Given the description of an element on the screen output the (x, y) to click on. 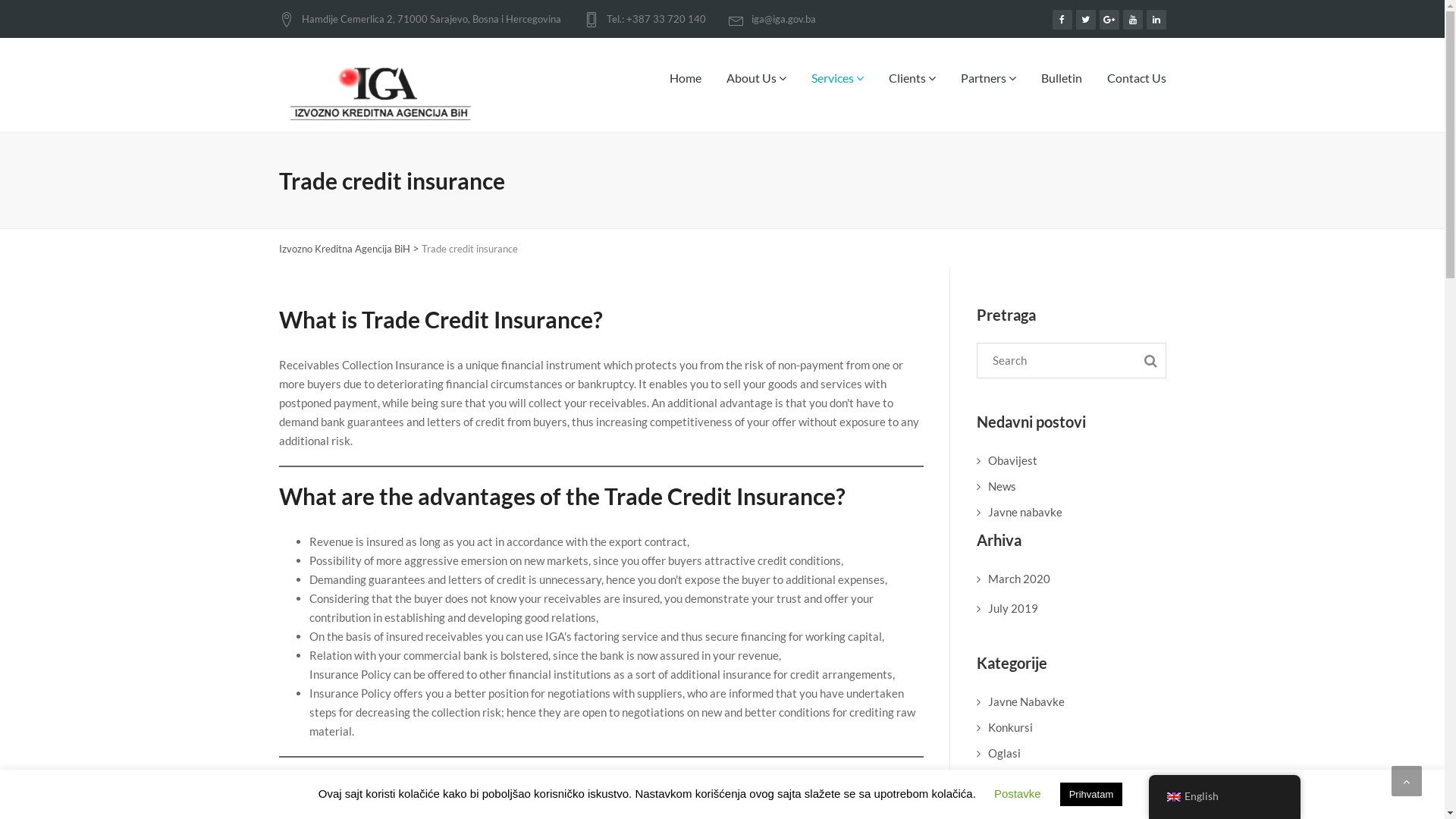
Izvozno Kreditna Agencija BiH Element type: text (344, 248)
Javne nabavke Element type: text (1024, 511)
Obavijest Element type: text (1011, 460)
Clients Element type: text (911, 89)
Prihvatam Element type: text (1091, 794)
Javne Nabavke Element type: text (1025, 701)
Partners Element type: text (988, 89)
Bulletin Element type: text (1061, 89)
Contact Us Element type: text (1130, 89)
English Element type: hover (1172, 795)
About Us Element type: text (755, 89)
Oglasi Element type: text (1003, 752)
Postavke Element type: text (1017, 793)
News Element type: text (1001, 485)
March 2020 Element type: text (1018, 578)
Services Element type: text (836, 89)
Konkursi Element type: text (1009, 727)
Home Element type: text (685, 89)
English Element type: text (1223, 796)
July 2019 Element type: text (1012, 607)
